Given the description of an element on the screen output the (x, y) to click on. 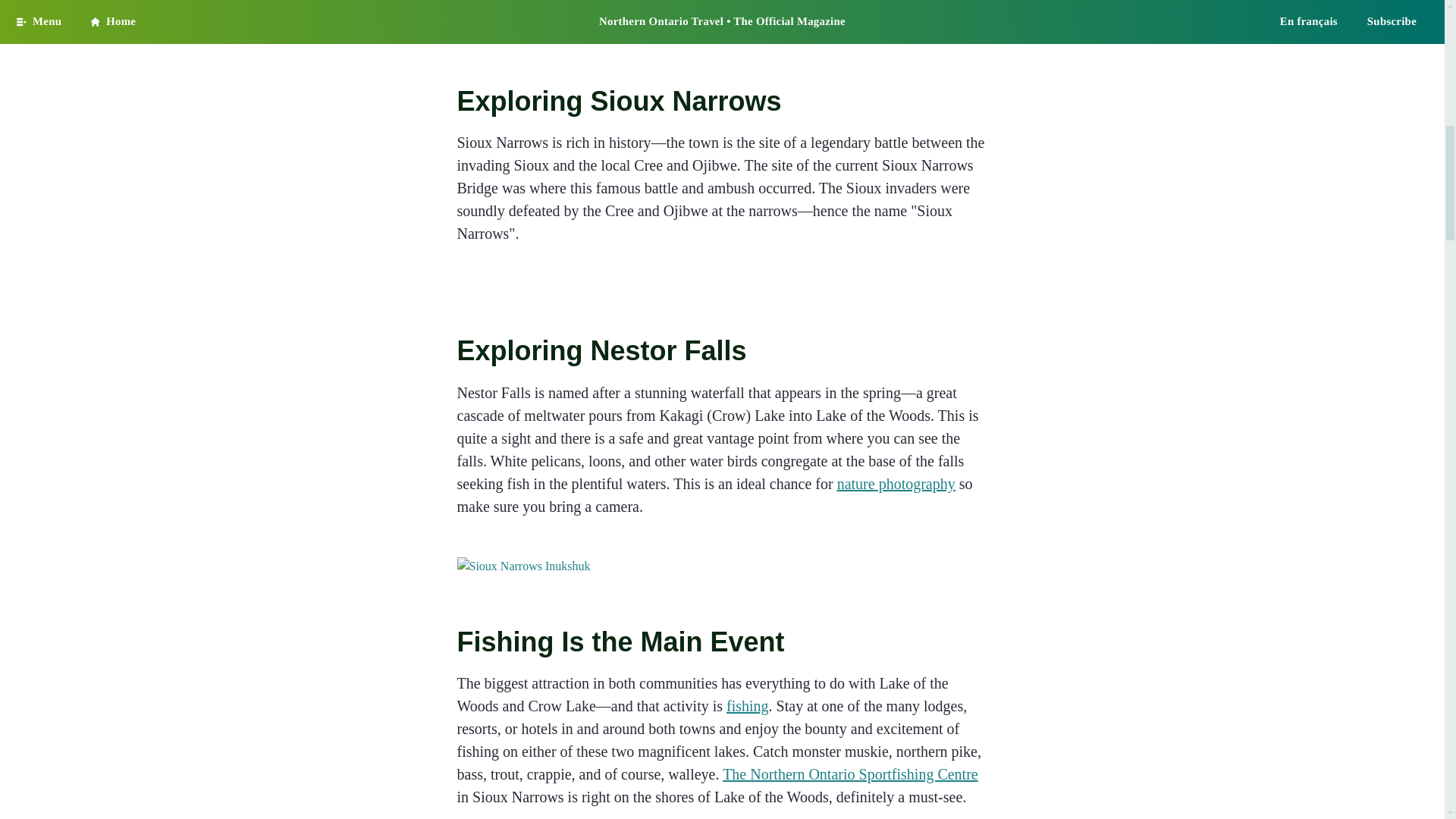
nature photography opportunites (896, 483)
Fishing Lake of the Woods and Crow Lake (747, 705)
Information on visiting Sioux Narrows (722, 566)
